Given the description of an element on the screen output the (x, y) to click on. 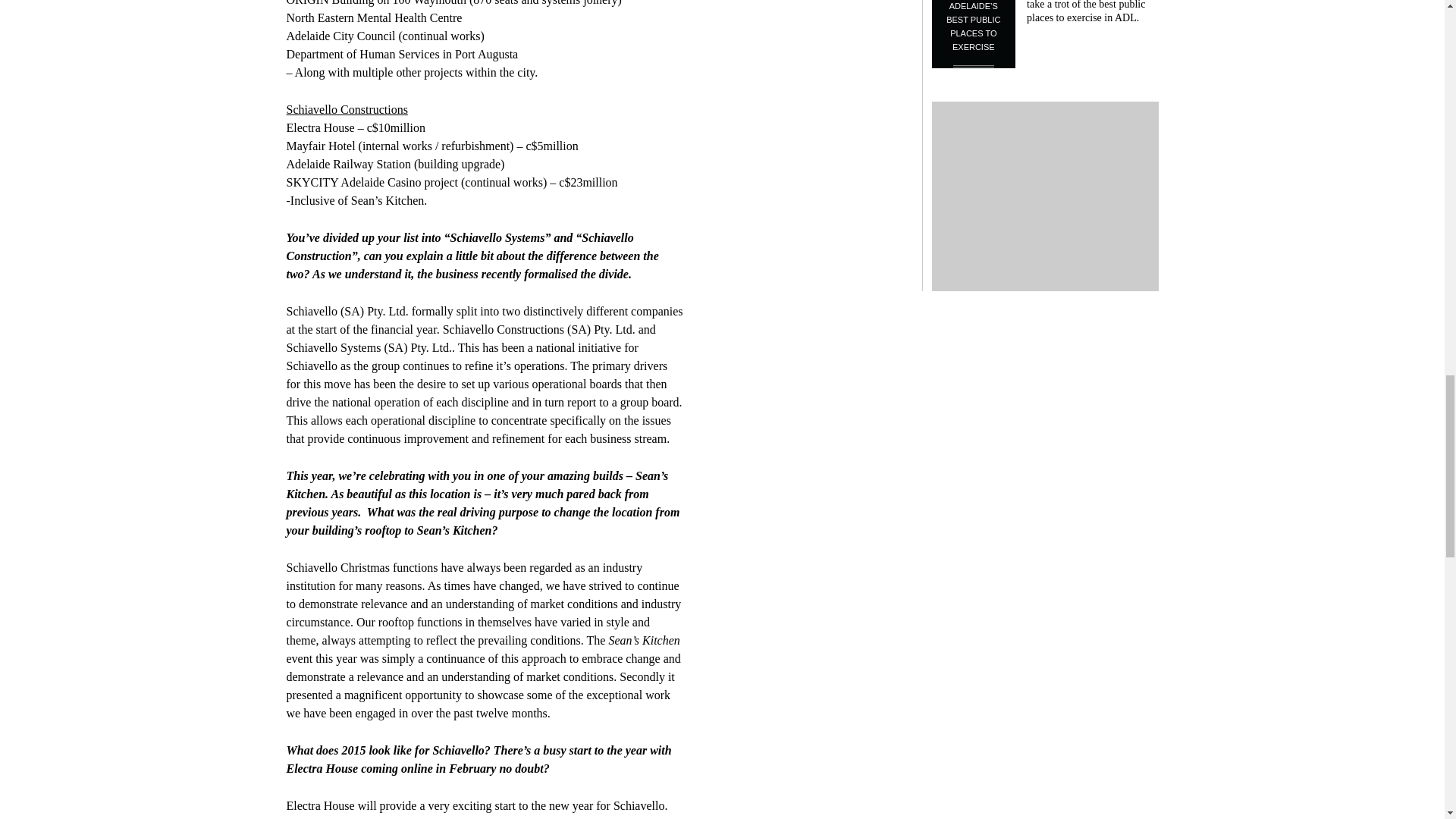
3rd party ad content (1044, 196)
